Given the description of an element on the screen output the (x, y) to click on. 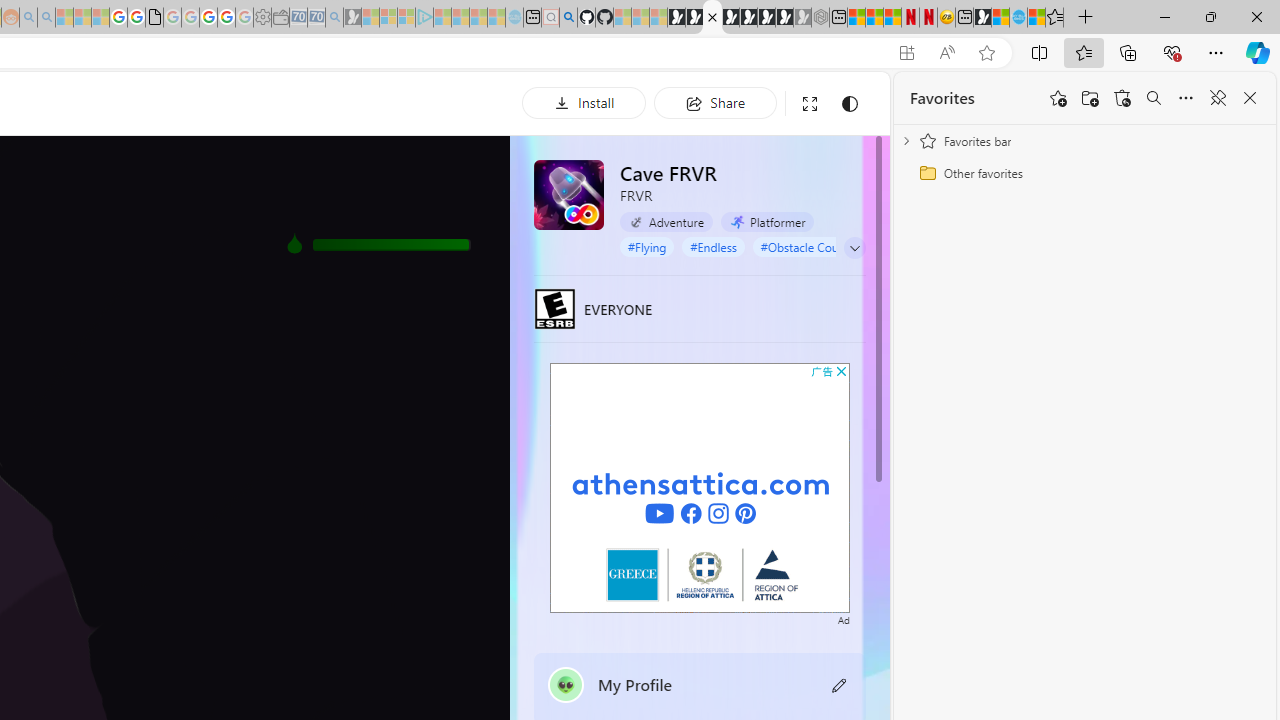
google_privacy_policy_zh-CN.pdf (153, 17)
Add this page to favorites (1058, 98)
Restore deleted favorites (1122, 98)
Class: expand-arrow neutral (854, 247)
#Endless (713, 246)
""'s avatar (565, 684)
Share (715, 102)
Adventure (665, 221)
AutomationID: cbb (841, 371)
Play Cave FRVR in your browser | Games from Microsoft Start (712, 17)
